Given the description of an element on the screen output the (x, y) to click on. 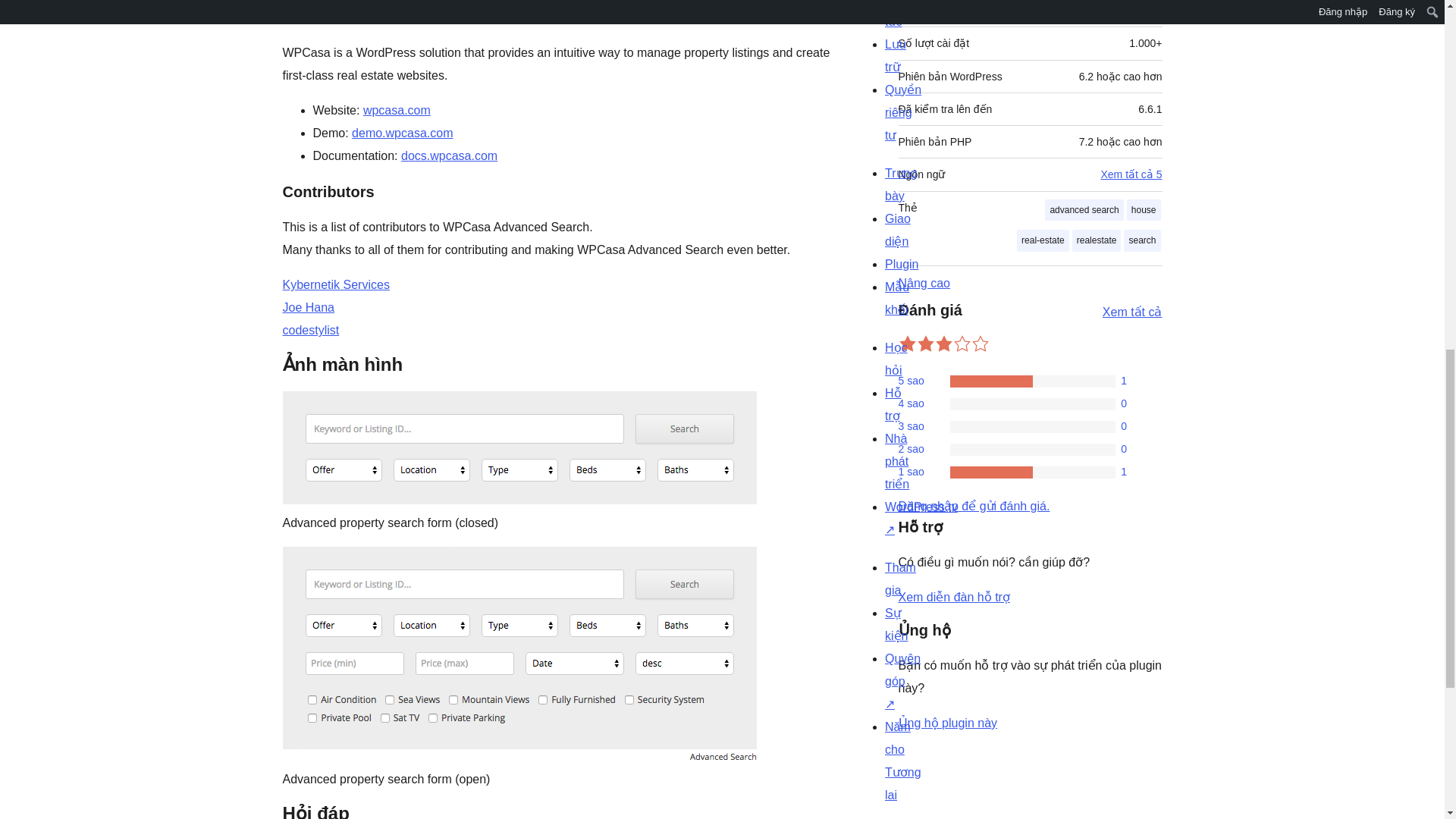
docs.wpcasa.com (449, 155)
WPCasa (581, 0)
wpcasa.com (396, 110)
demo.wpcasa.com (402, 132)
